Given the description of an element on the screen output the (x, y) to click on. 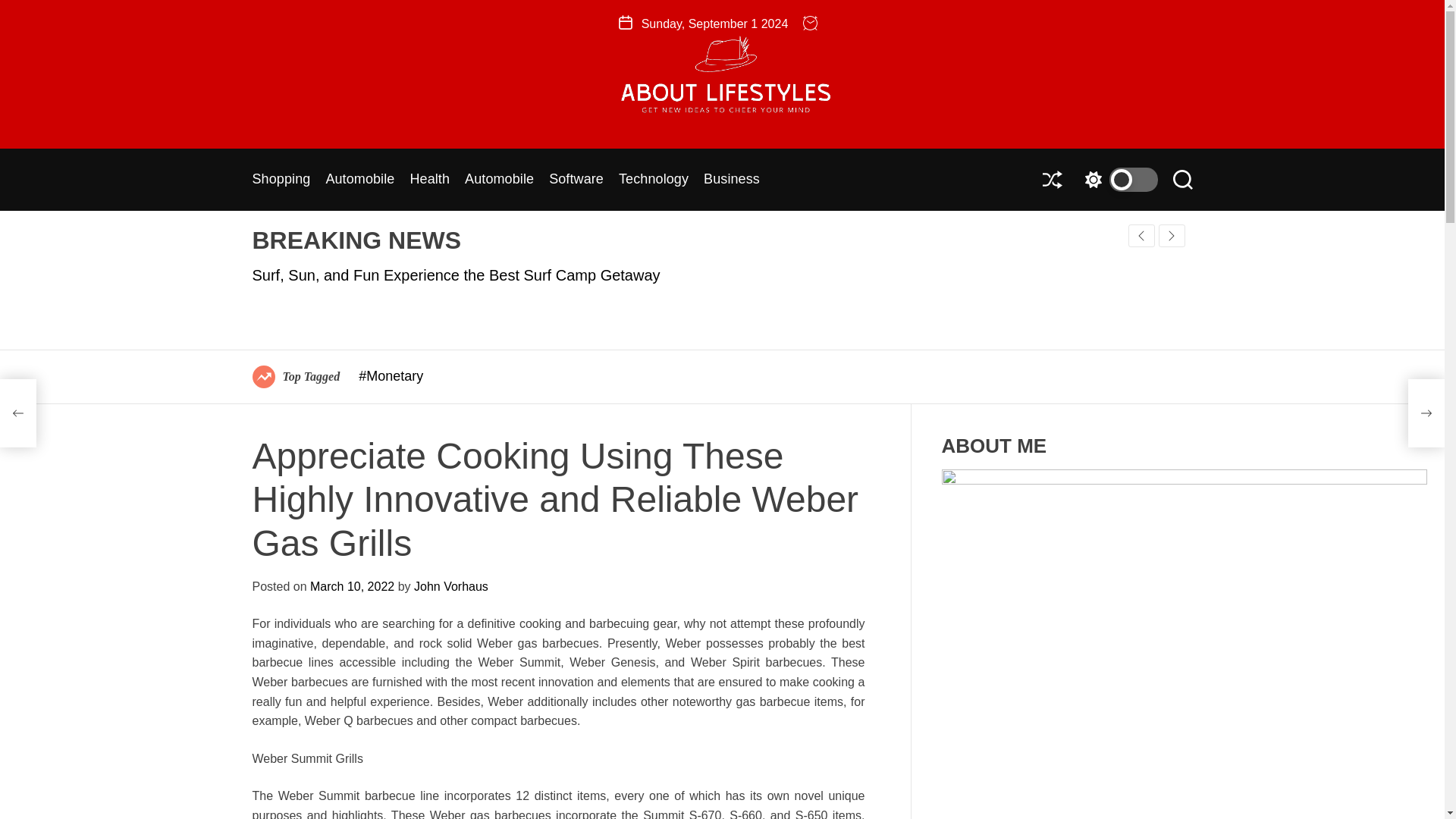
Technology (653, 179)
Automobile (499, 179)
March 10, 2022 (352, 585)
Switch color mode (1117, 179)
John Vorhaus (450, 585)
Surf, Sun, and Fun Experience the Best Surf Camp Getaway (455, 274)
Shopping (280, 179)
Automobile (359, 179)
Software (576, 179)
Business (731, 179)
